Given the description of an element on the screen output the (x, y) to click on. 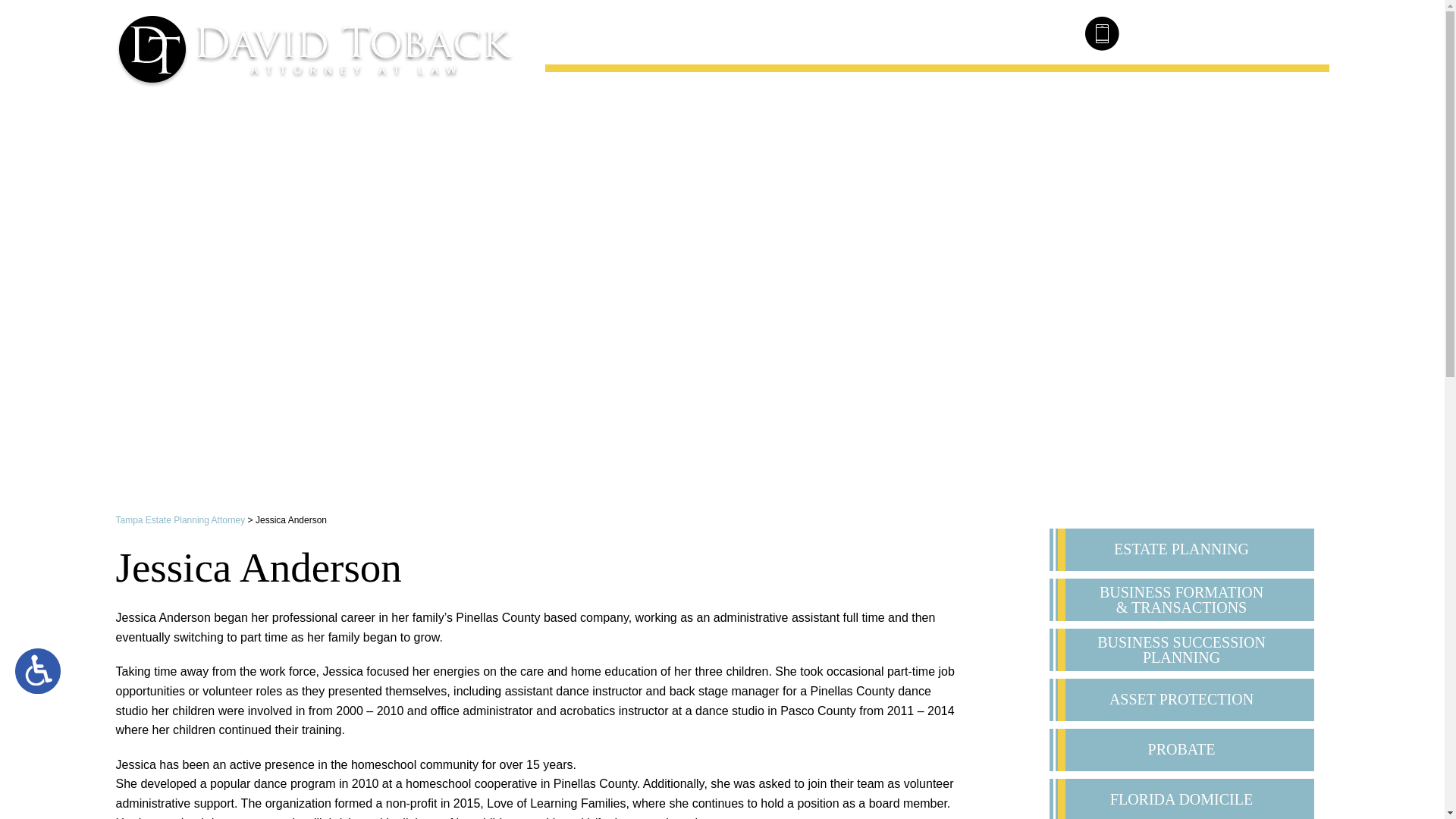
PRACTICE AREAS (840, 92)
813-252-7529 (1209, 31)
HOME (637, 92)
Switch to ADA Accessible Theme (37, 670)
OUR FIRM (719, 92)
